Given the description of an element on the screen output the (x, y) to click on. 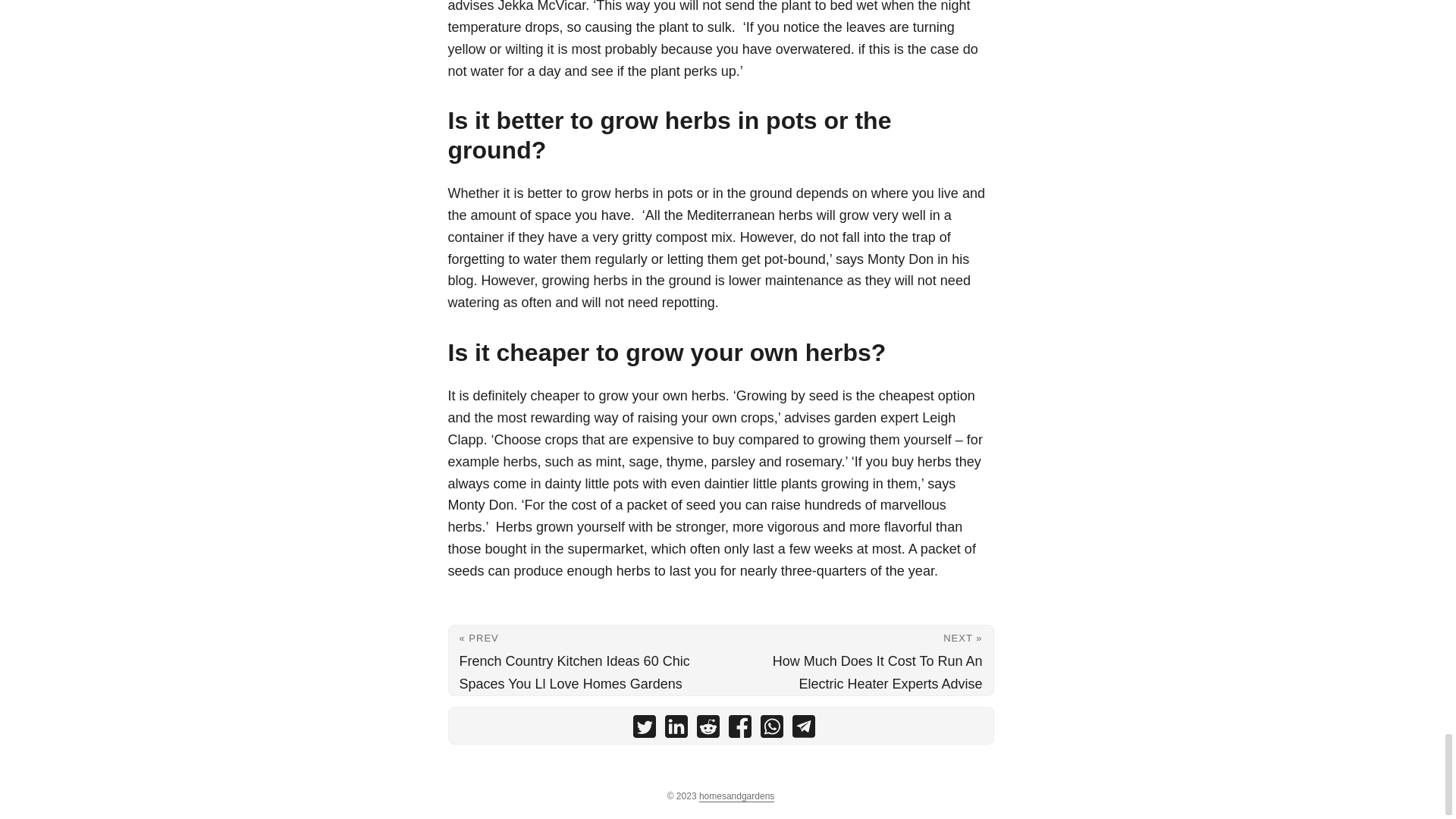
homesandgardens (736, 796)
